Given the description of an element on the screen output the (x, y) to click on. 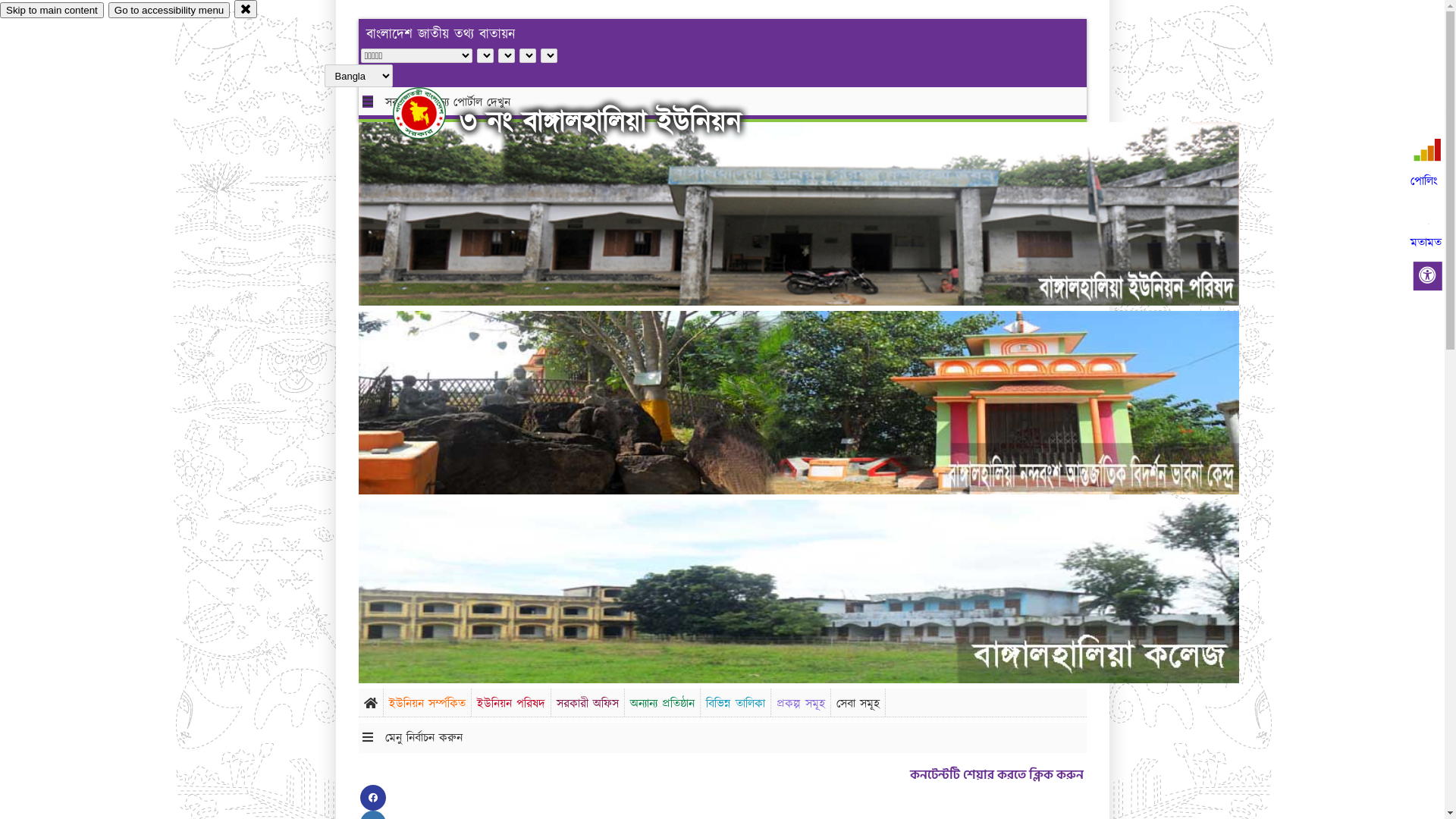

                
             Element type: hover (431, 112)
Skip to main content Element type: text (51, 10)
close Element type: hover (245, 9)
Go to accessibility menu Element type: text (168, 10)
